Given the description of an element on the screen output the (x, y) to click on. 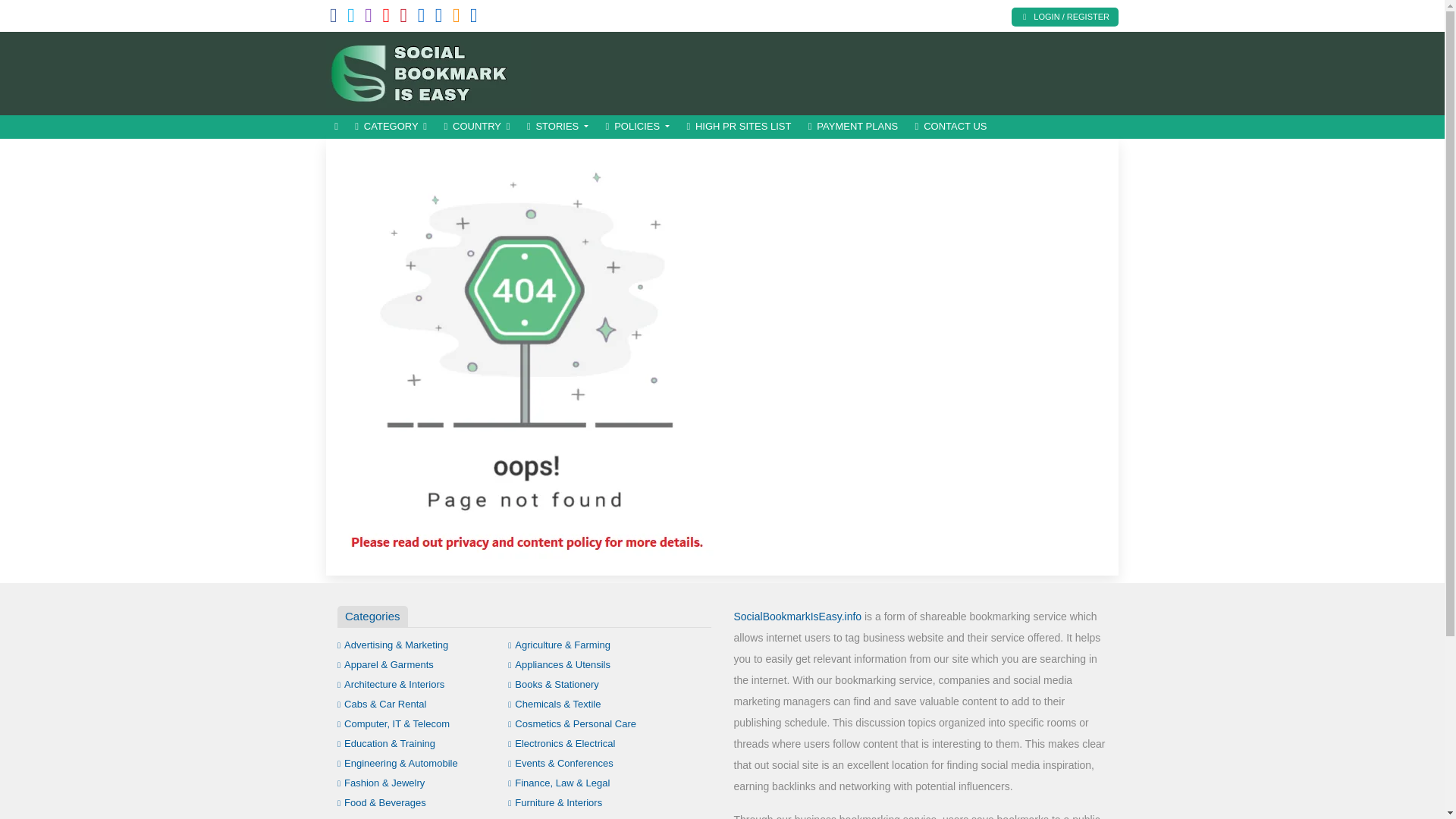
CATEGORY (390, 126)
